Given the description of an element on the screen output the (x, y) to click on. 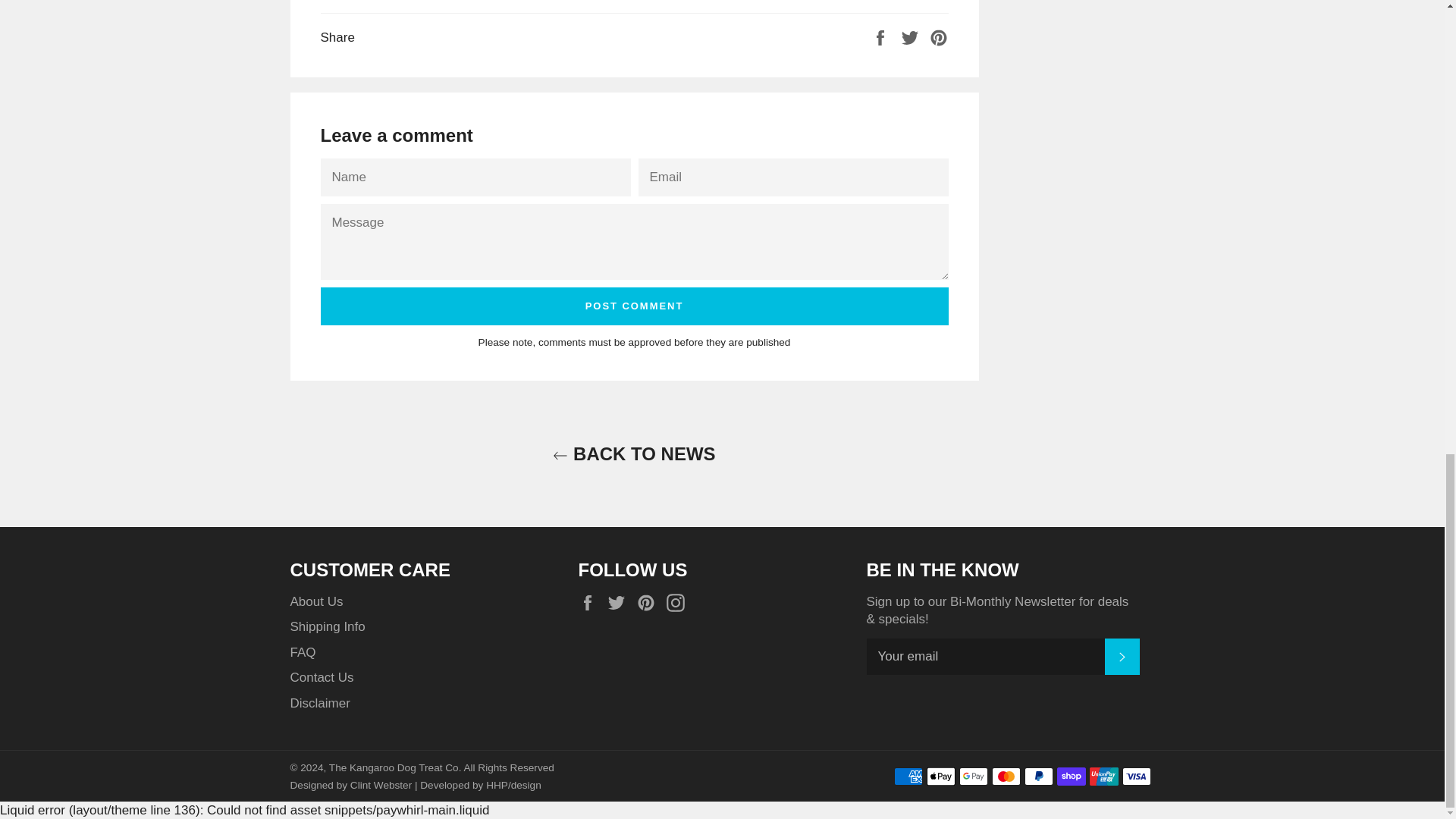
Share on Facebook (881, 37)
Tweet on Twitter (912, 37)
Share on Facebook (881, 37)
Pin on Pinterest (938, 37)
Post comment (633, 306)
Tweet on Twitter (912, 37)
Pin on Pinterest (938, 37)
BACK TO NEWS (633, 453)
Post comment (633, 306)
